Given the description of an element on the screen output the (x, y) to click on. 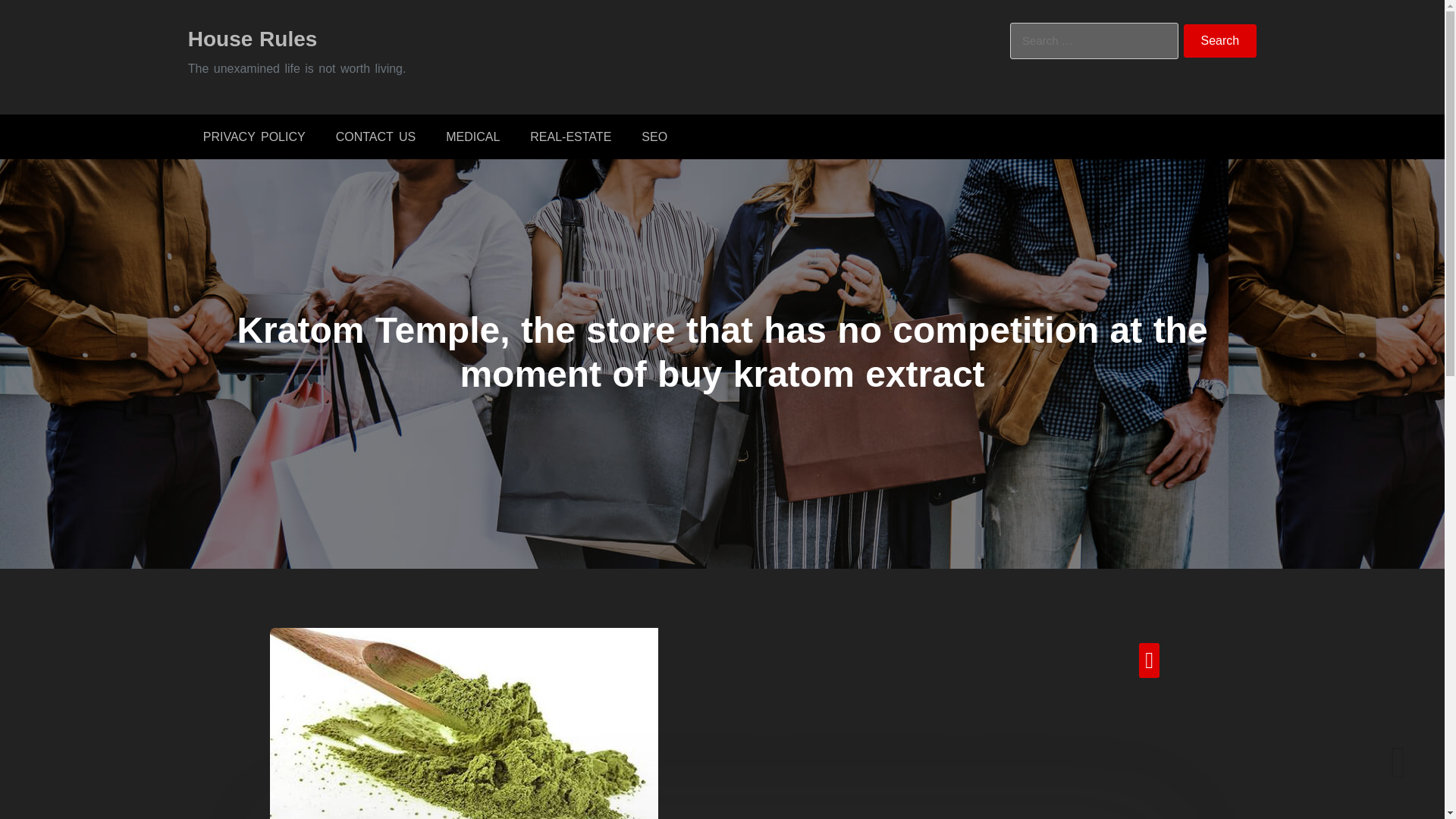
Search (1220, 40)
MEDICAL (472, 136)
House Rules (252, 38)
CONTACT US (375, 136)
SEO (654, 136)
Search (1220, 40)
REAL-ESTATE (570, 136)
PRIVACY POLICY (253, 136)
Search (1220, 40)
